Given the description of an element on the screen output the (x, y) to click on. 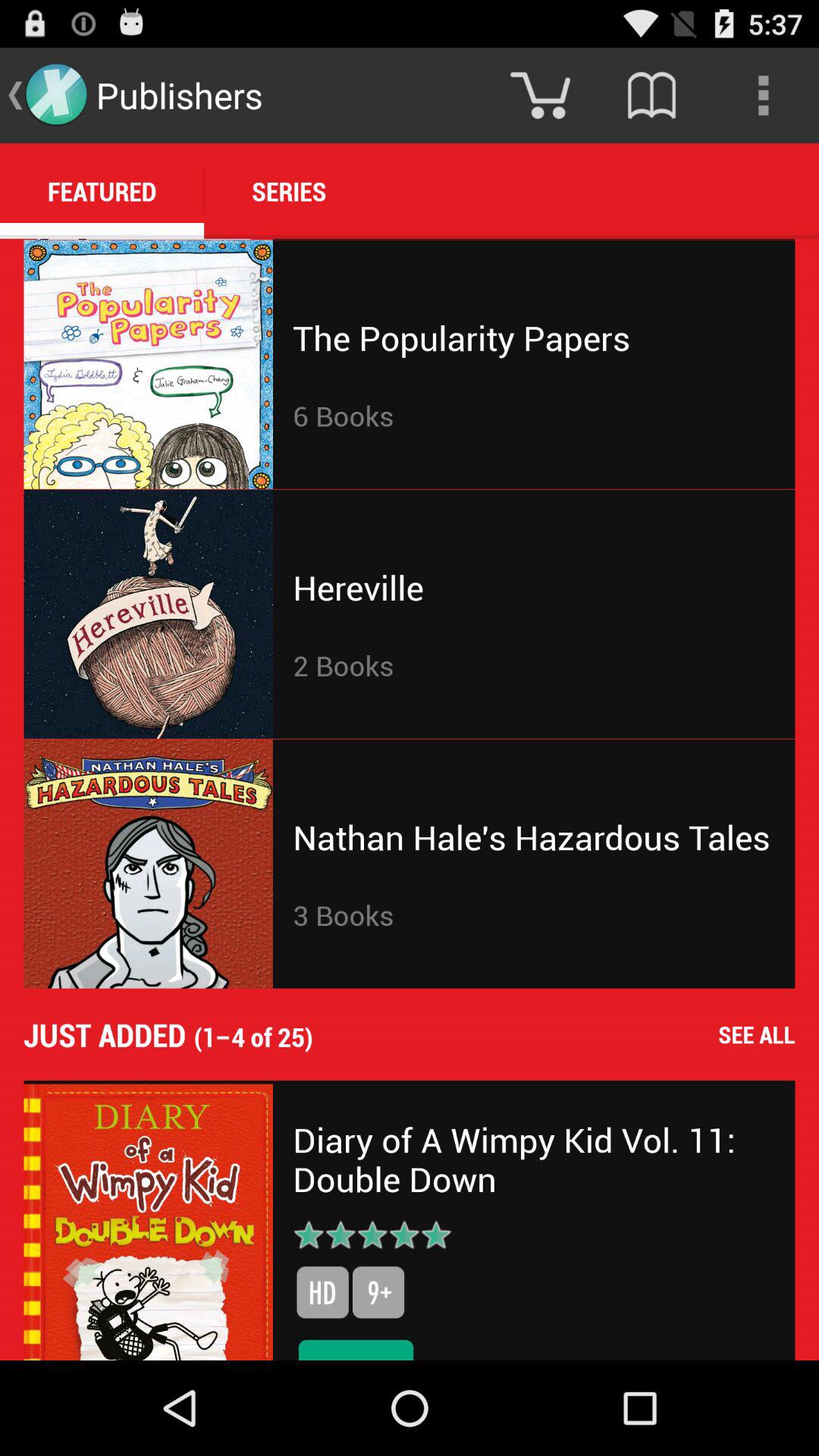
click the item next to the featured icon (289, 190)
